Given the description of an element on the screen output the (x, y) to click on. 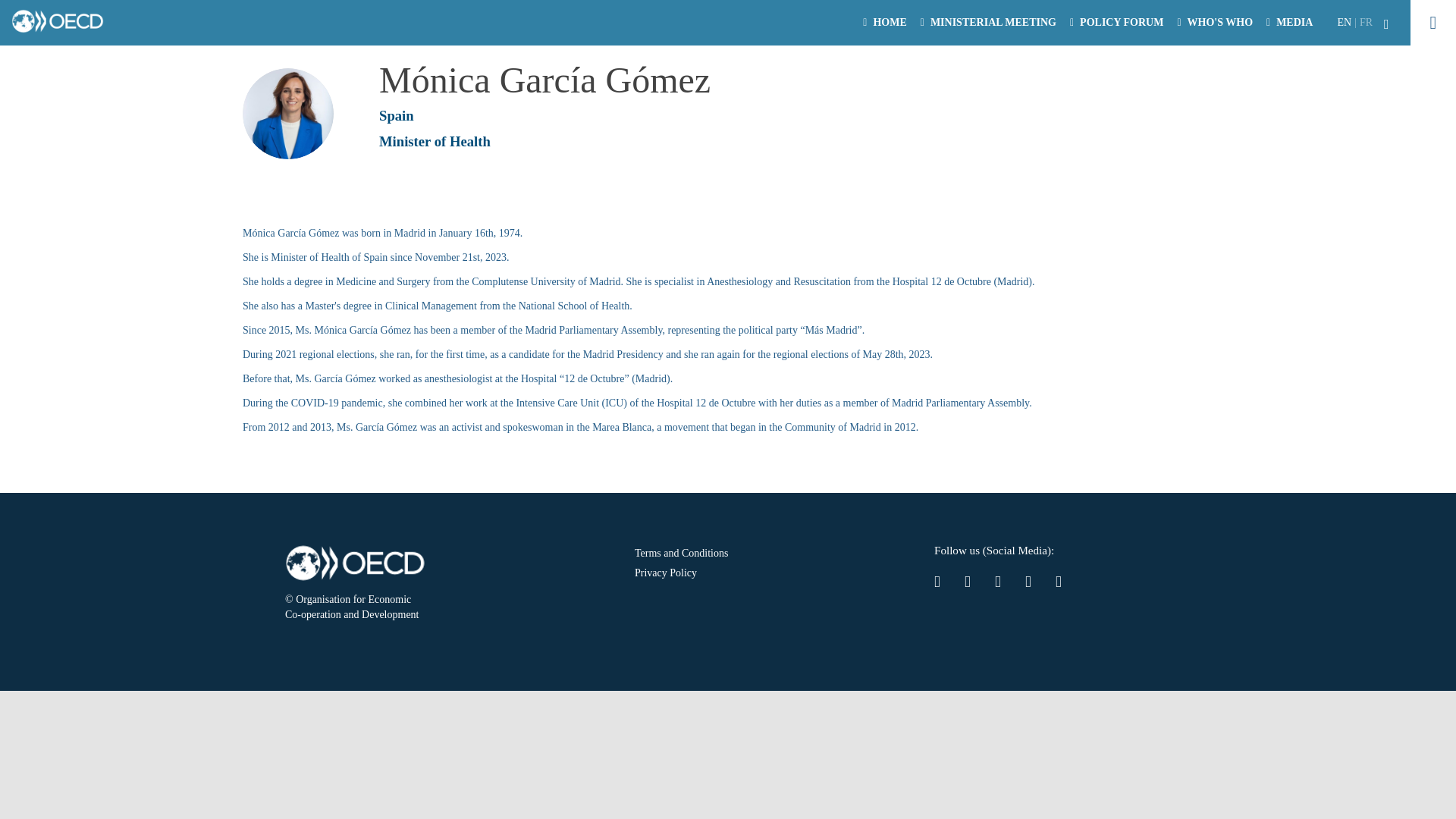
Terms and Conditions (747, 554)
WHO'S WHO (1214, 22)
HOME (885, 22)
POLICY FORUM (1117, 22)
MEDIA (1290, 22)
MINISTERIAL MEETING (989, 22)
Privacy Policy (747, 574)
